Given the description of an element on the screen output the (x, y) to click on. 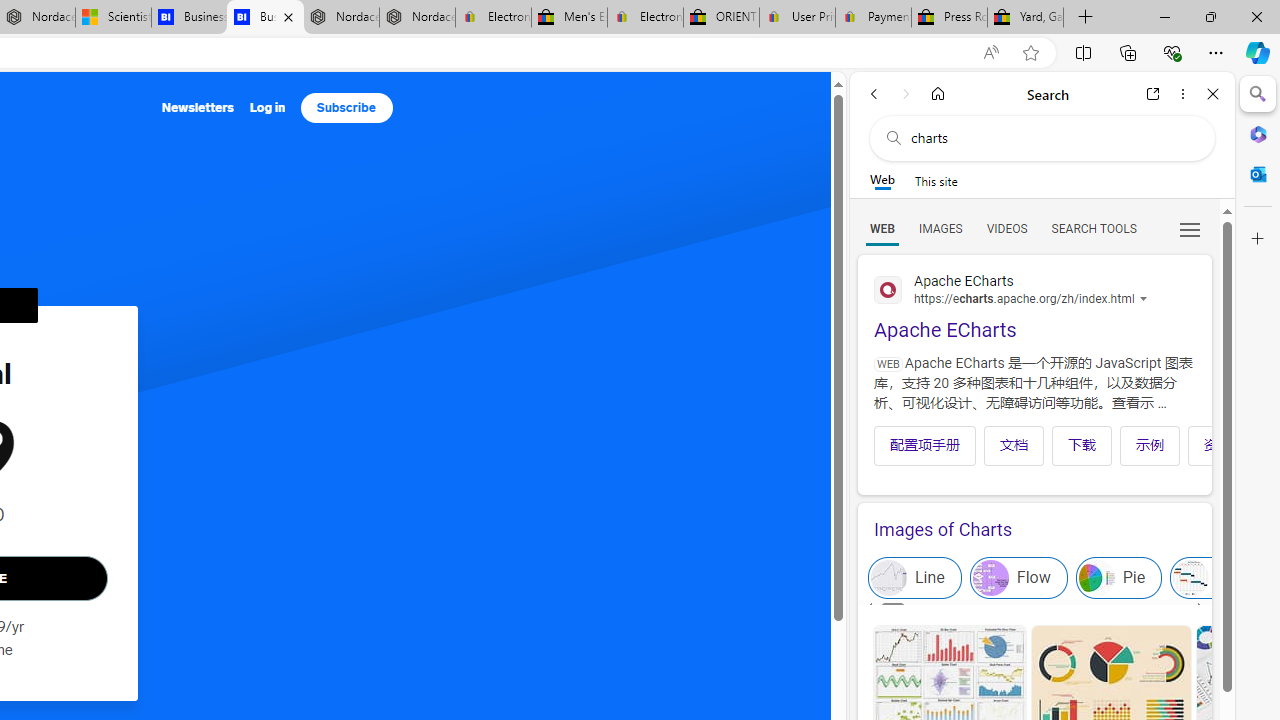
This site scope (936, 180)
Line (914, 578)
Search Filter, Search Tools (1093, 228)
Flow (1017, 578)
Forward (906, 93)
IMAGES (939, 228)
